Given the description of an element on the screen output the (x, y) to click on. 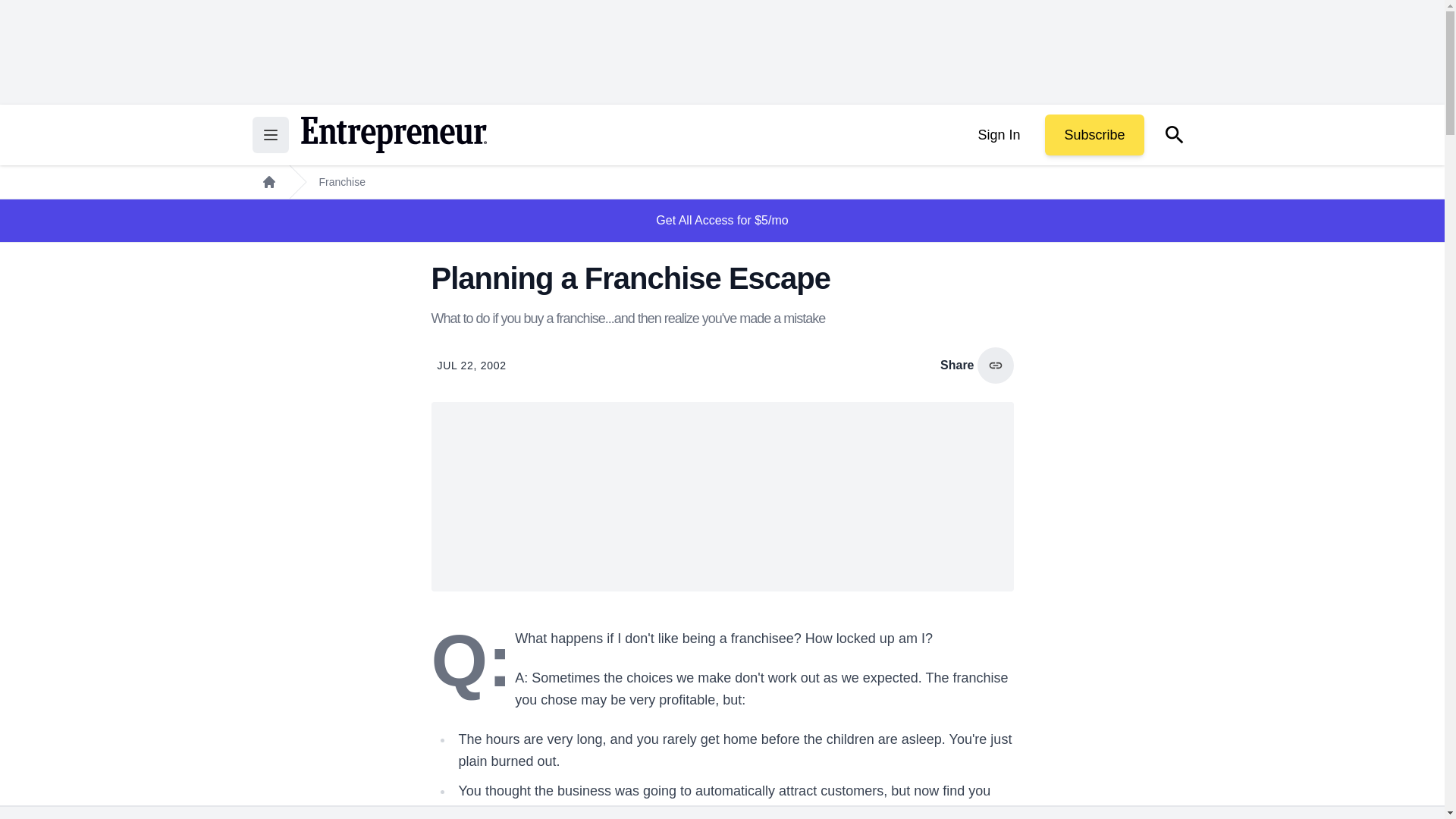
Sign In (998, 134)
Subscribe (1093, 134)
copy (994, 365)
Return to the home page (392, 135)
